Given the description of an element on the screen output the (x, y) to click on. 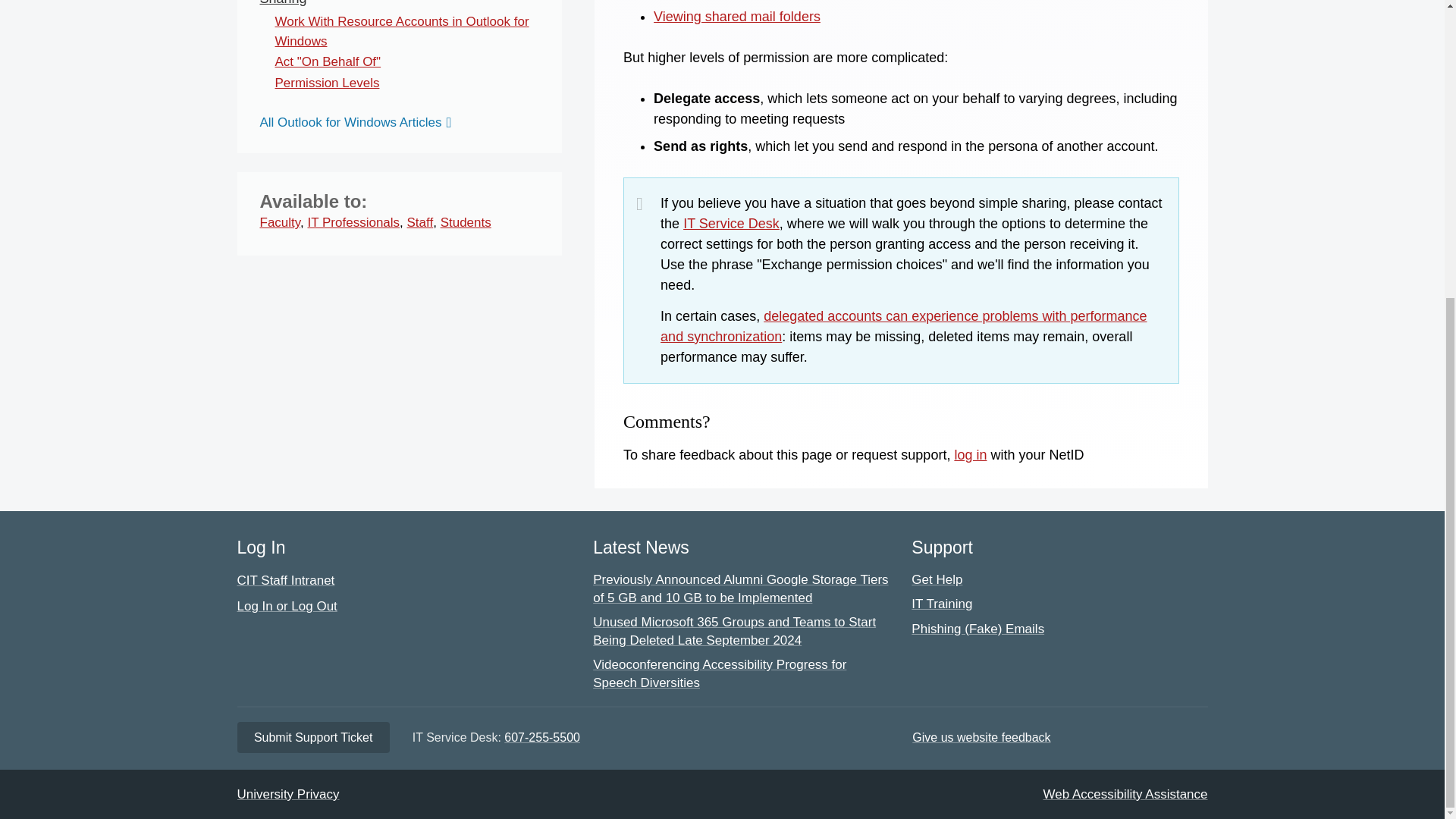
View Shared Mail Folders in Outlook for Windows (737, 16)
Staff (420, 222)
Sharing (282, 2)
IT Professionals (353, 222)
Act "On Behalf Of" (327, 61)
Students (466, 222)
Get Help (730, 223)
Permission Levels (326, 83)
All Outlook for Windows Articles (358, 122)
Faculty (279, 222)
Work With Resource Accounts in Outlook for Windows (401, 31)
